Given the description of an element on the screen output the (x, y) to click on. 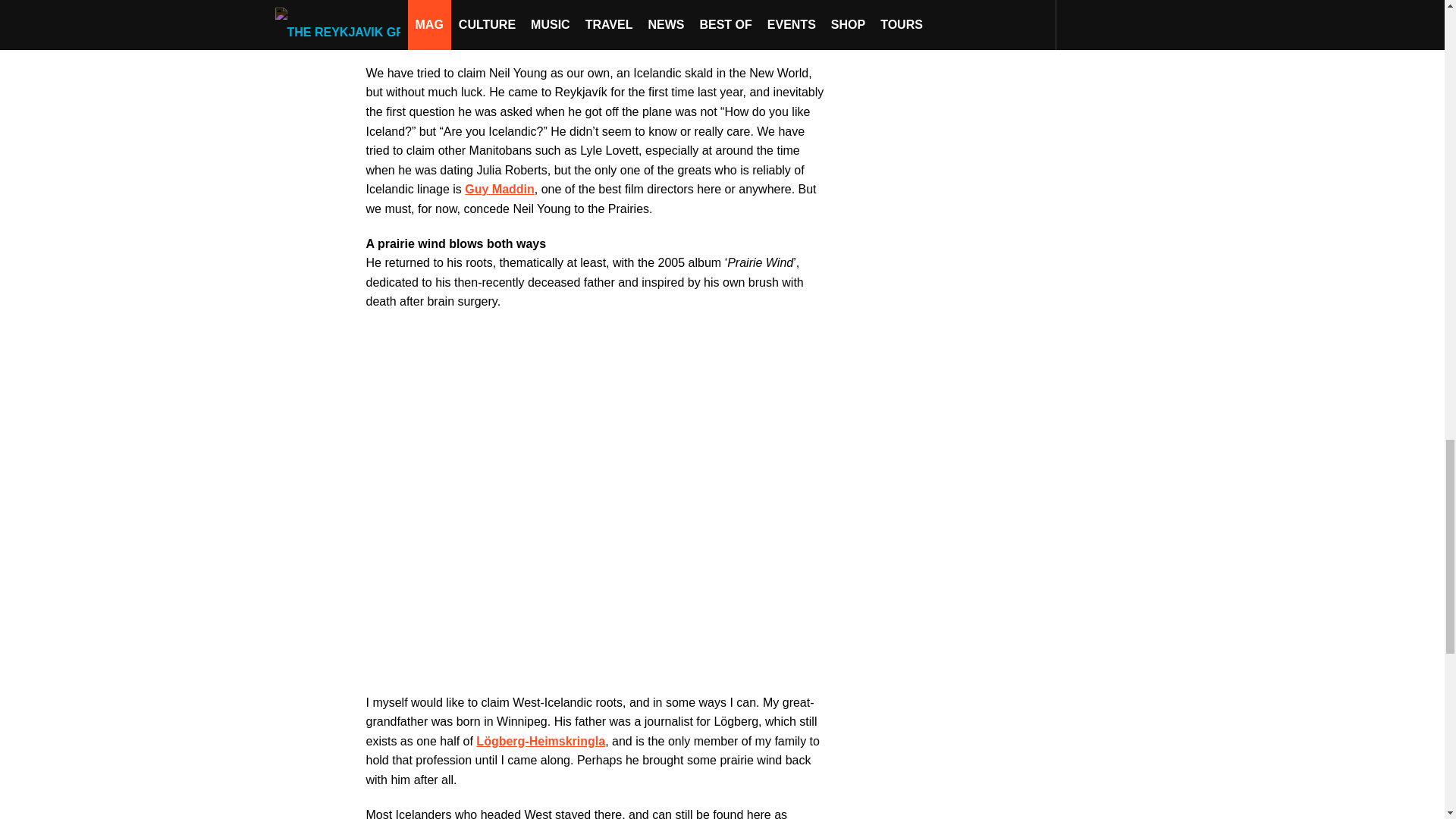
Guy Maddin (499, 188)
